Given the description of an element on the screen output the (x, y) to click on. 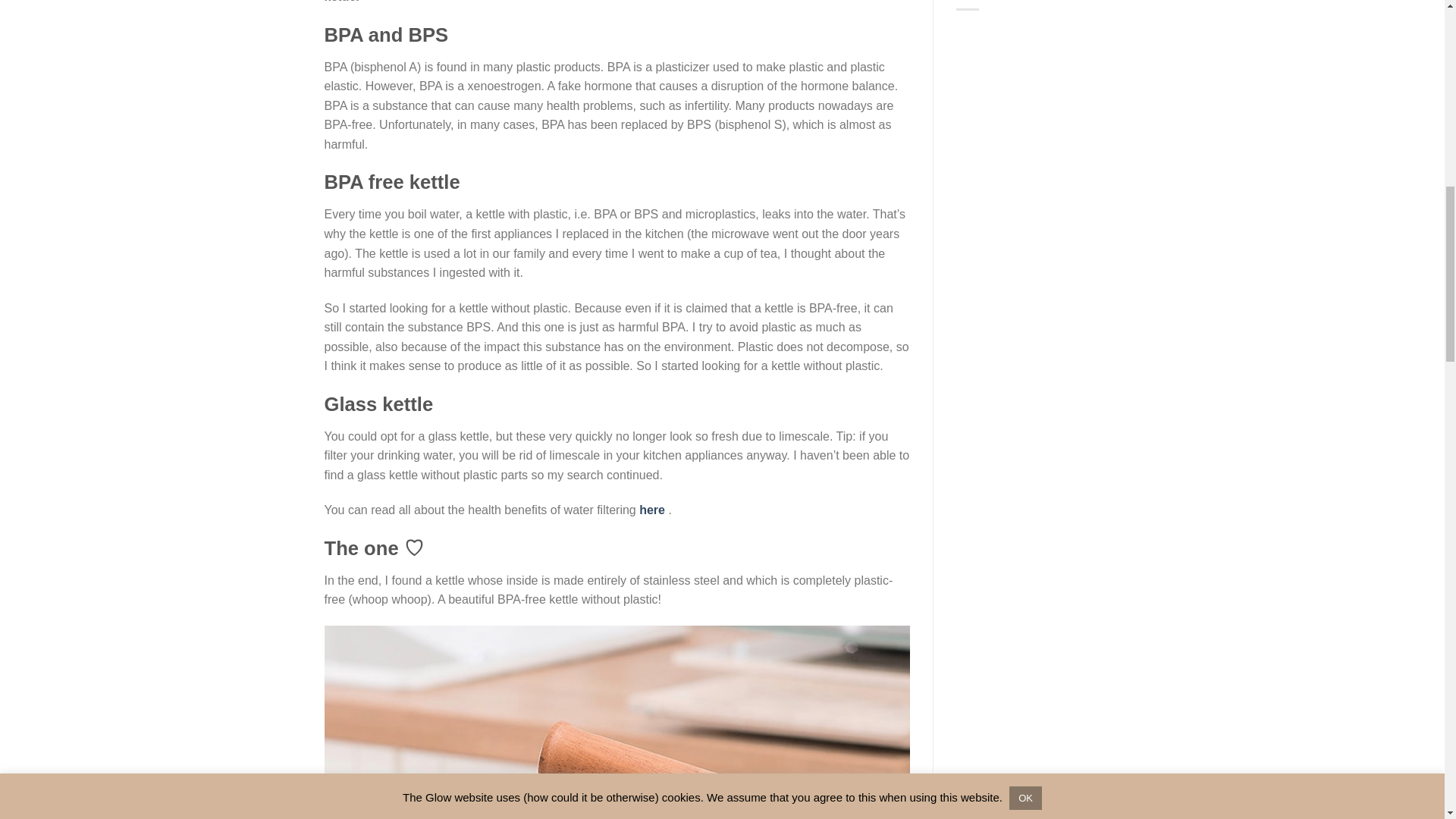
Processed with VSCO with al3 preset - Glow (617, 722)
